Given the description of an element on the screen output the (x, y) to click on. 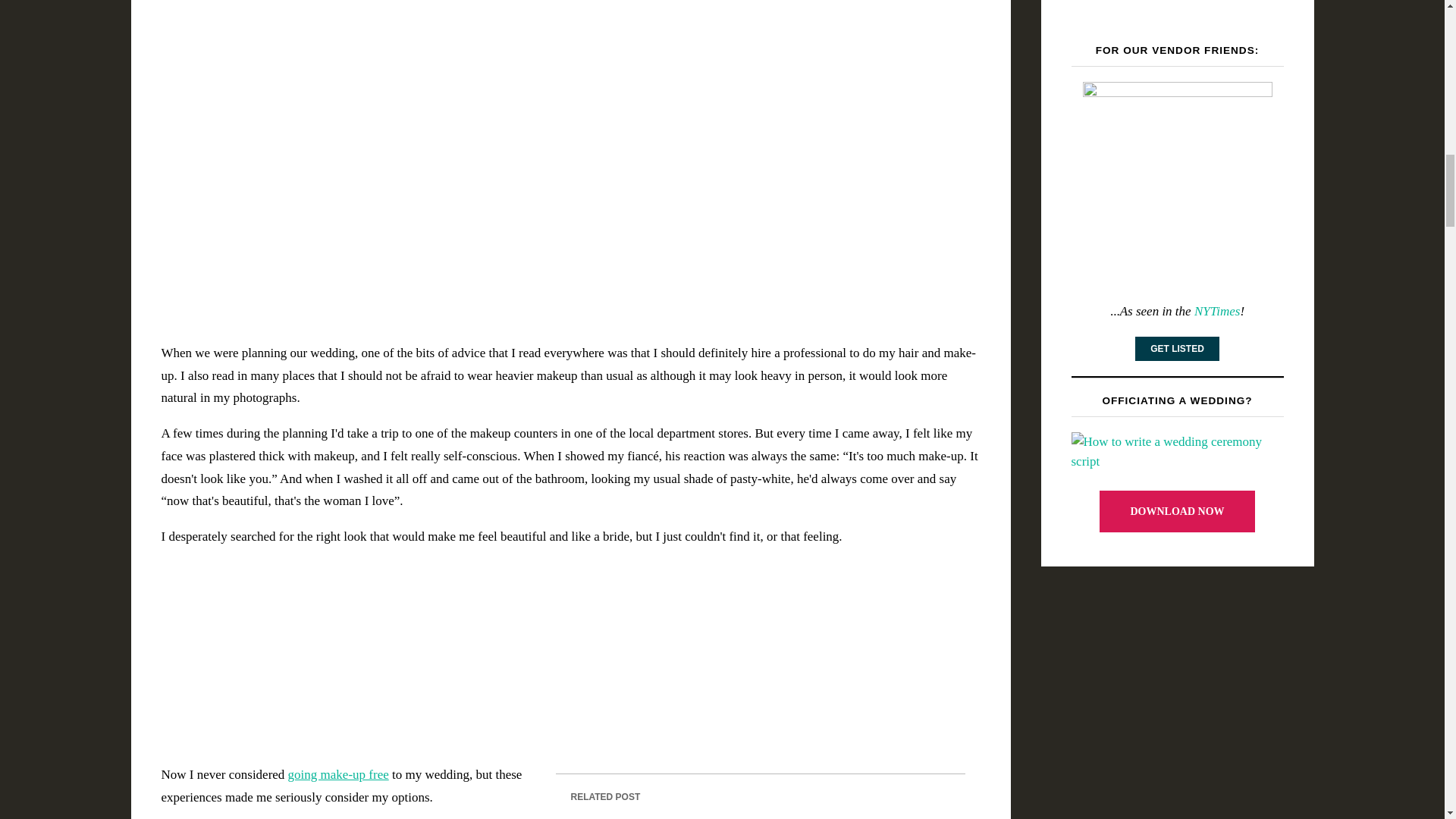
going make-up free (338, 774)
